Given the description of an element on the screen output the (x, y) to click on. 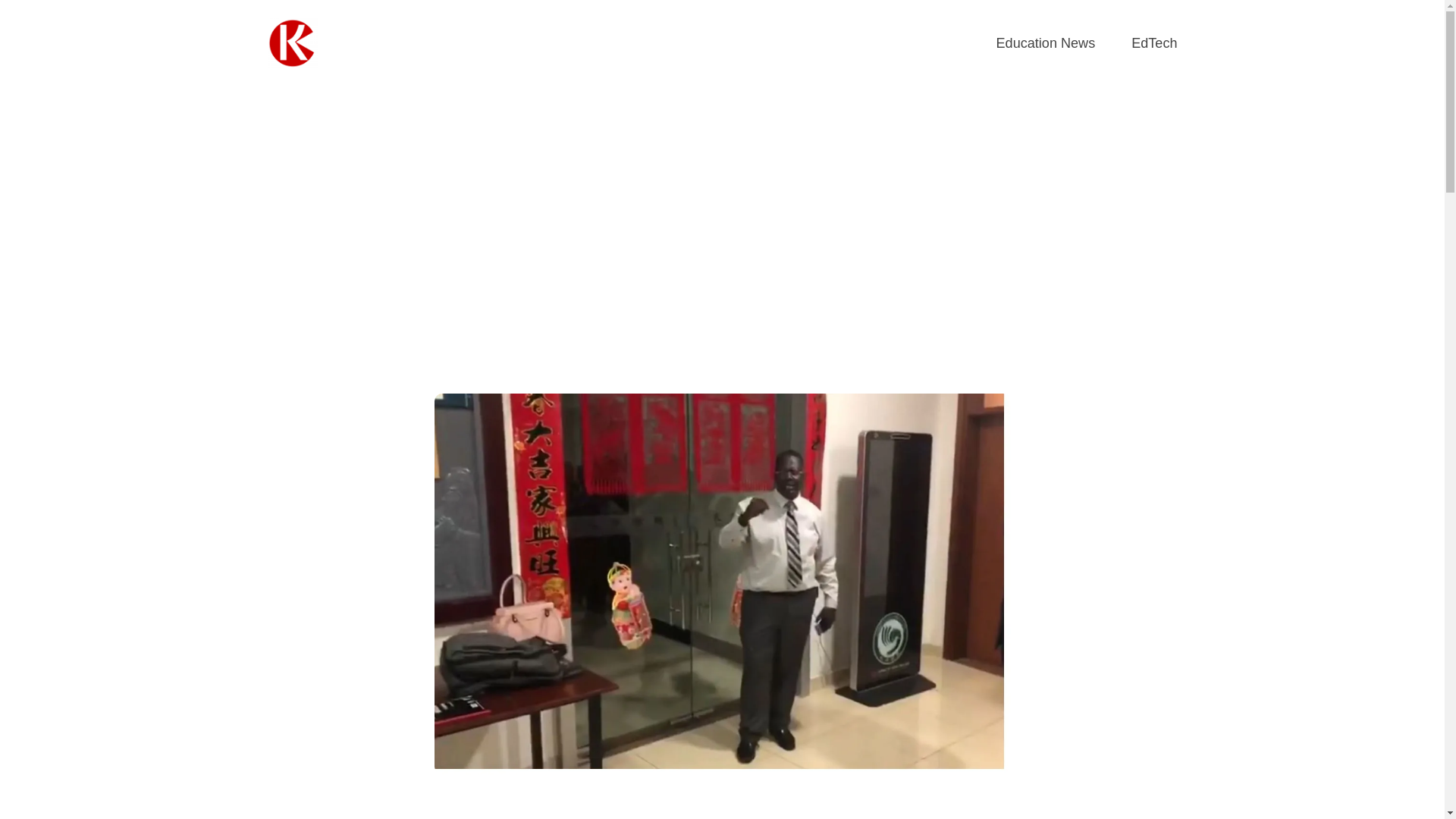
EdTech (1153, 43)
Education News (1045, 43)
